Given the description of an element on the screen output the (x, y) to click on. 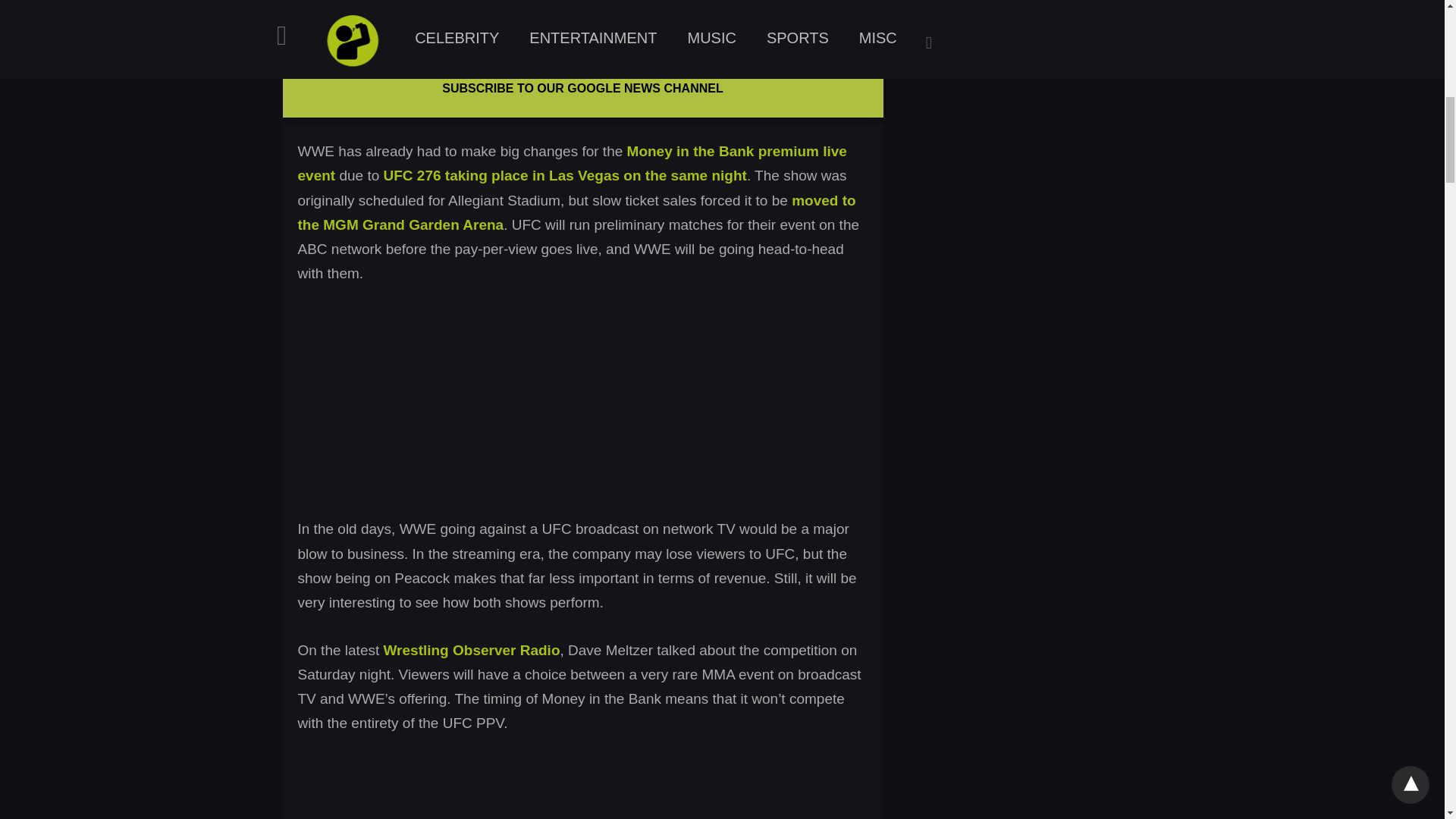
moved to the MGM Grand Garden Arena (576, 212)
Money in the Bank premium live event (571, 163)
UFC 276 taking place in Las Vegas on the same night (565, 175)
Wrestling Observer Radio (472, 650)
SUBSCRIBE TO OUR GOOGLE NEWS CHANNEL (582, 88)
